Given the description of an element on the screen output the (x, y) to click on. 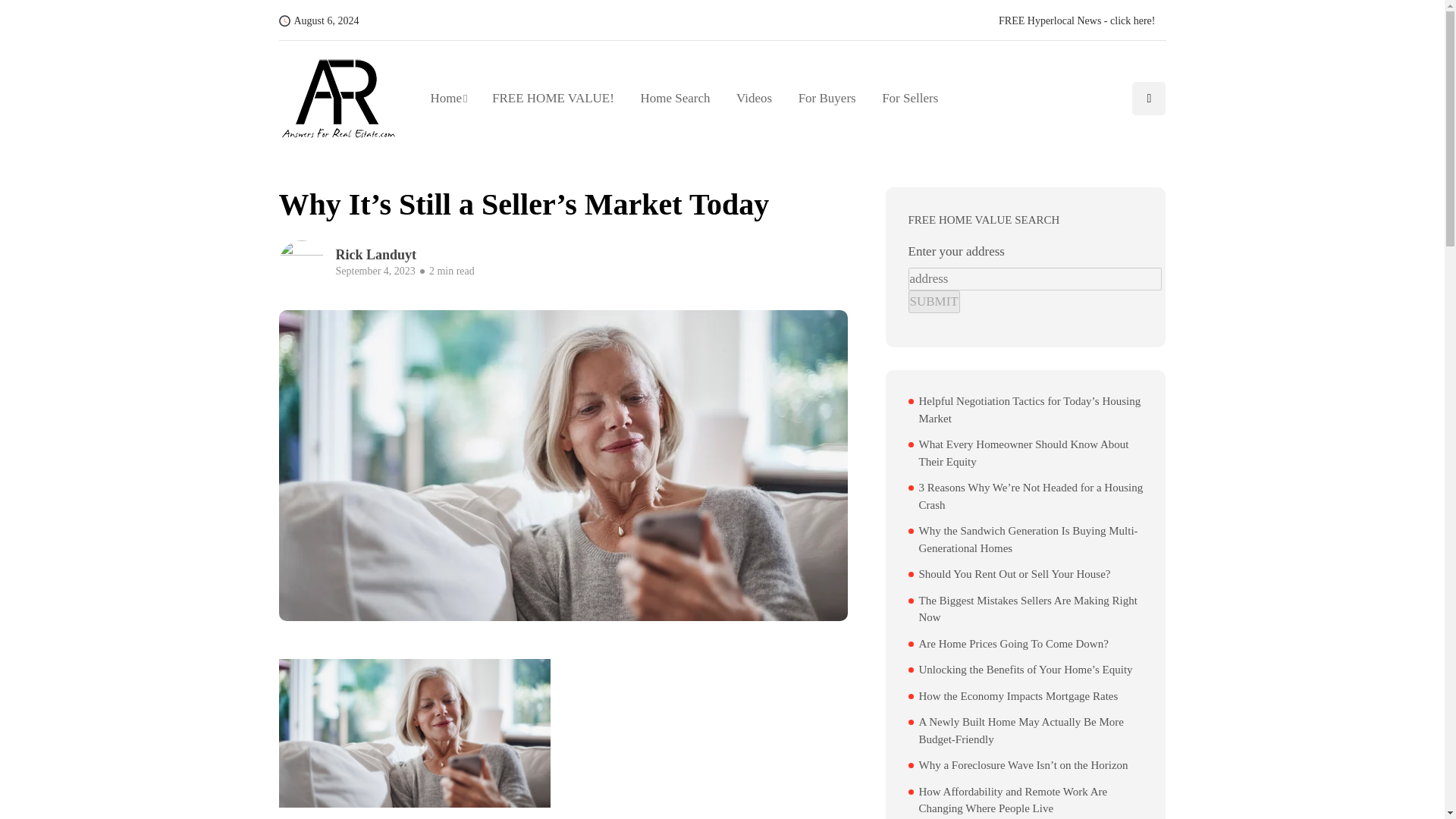
Rick Landuyt (410, 254)
Home (454, 97)
For Sellers (903, 97)
For Buyers (826, 97)
FREE Hyperlocal News - click here! (1076, 20)
Home Search (675, 97)
FREE HOME VALUE! (553, 97)
SUBMIT (933, 301)
Videos (754, 97)
